Given the description of an element on the screen output the (x, y) to click on. 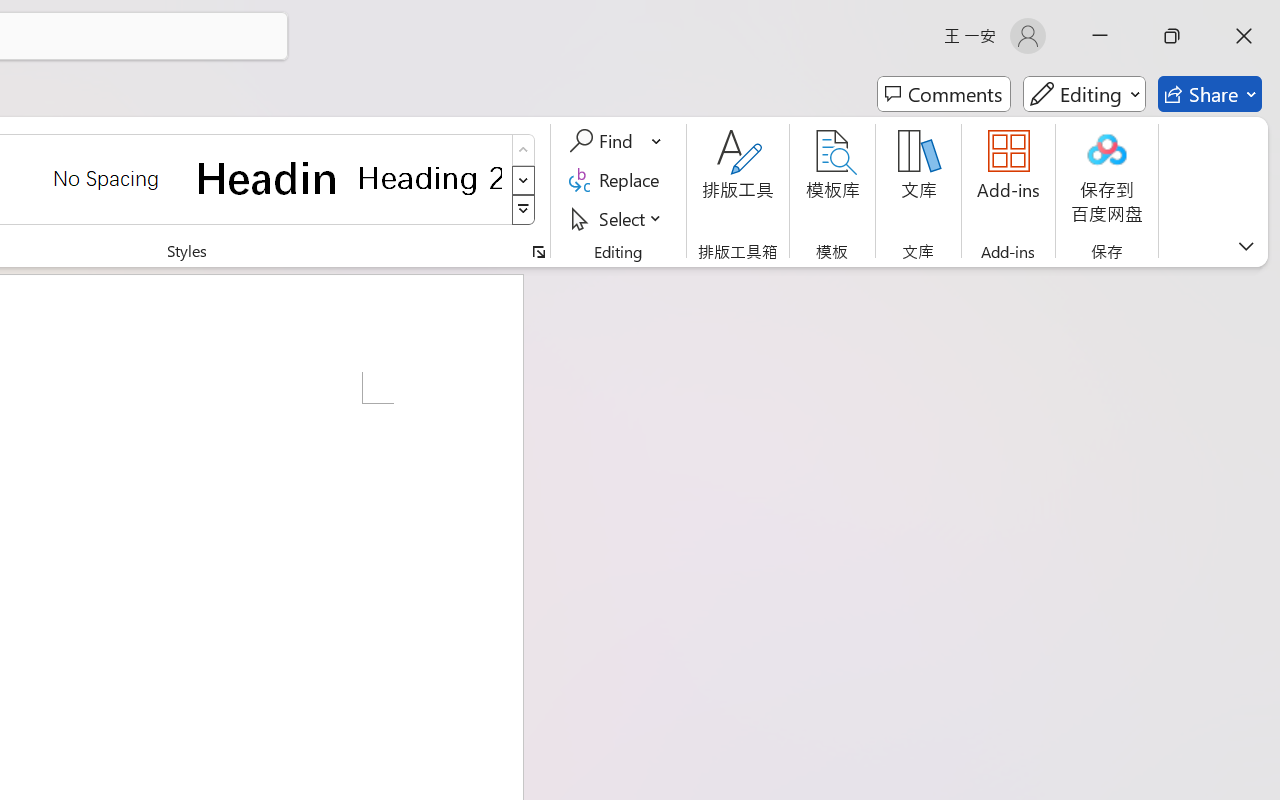
Styles (523, 209)
Replace... (617, 179)
Select (618, 218)
